Given the description of an element on the screen output the (x, y) to click on. 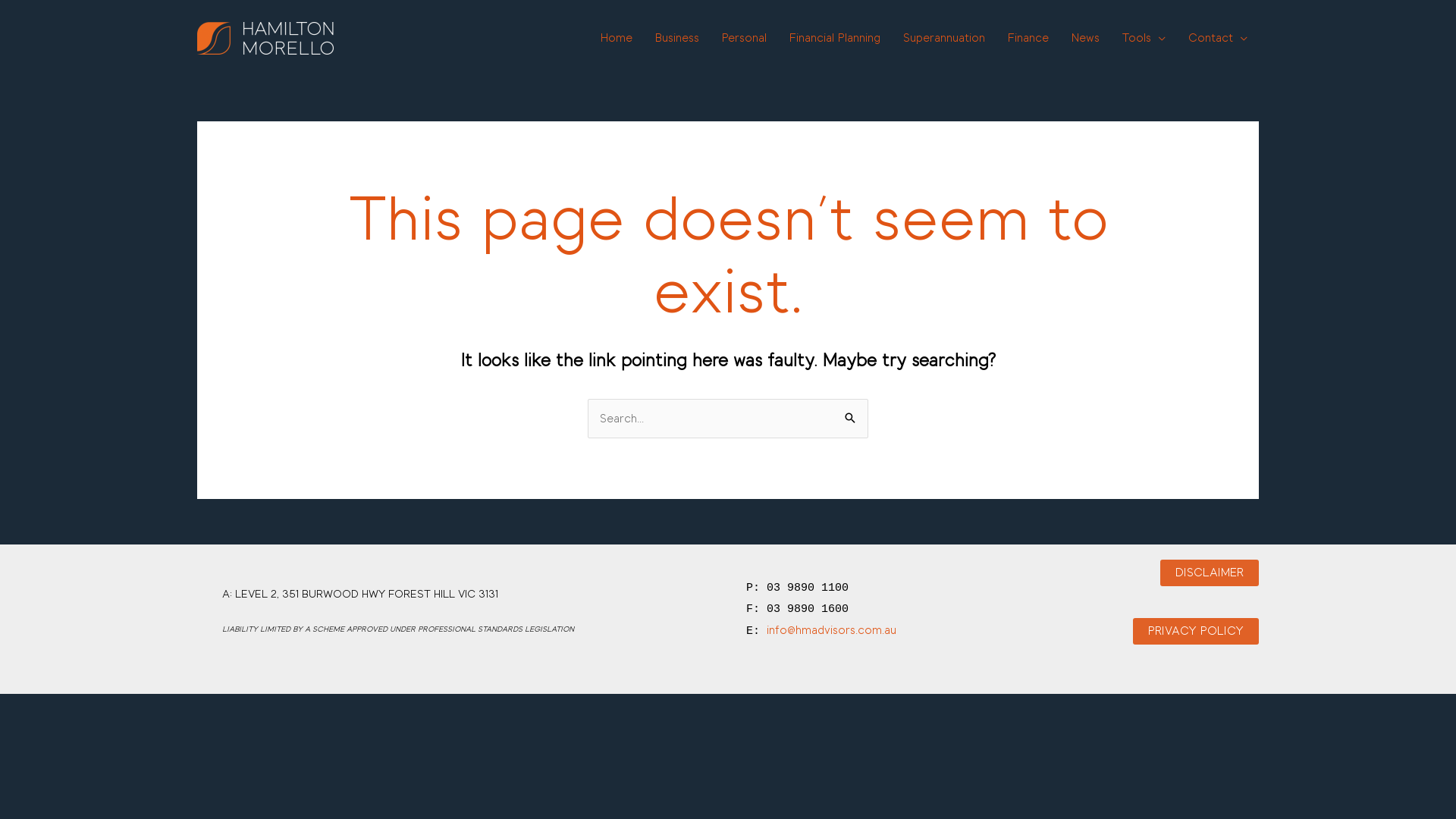
info@hmadvisors.com.au Element type: text (831, 630)
Home Element type: text (616, 37)
Personal Element type: text (744, 37)
News Element type: text (1085, 37)
Contact Element type: text (1217, 37)
Superannuation Element type: text (943, 37)
Search Element type: text (851, 413)
Business Element type: text (676, 37)
DISCLAIMER Element type: text (1209, 572)
Tools Element type: text (1143, 37)
PRIVACY POLICY Element type: text (1195, 631)
Finance Element type: text (1028, 37)
Financial Planning Element type: text (834, 37)
